Given the description of an element on the screen output the (x, y) to click on. 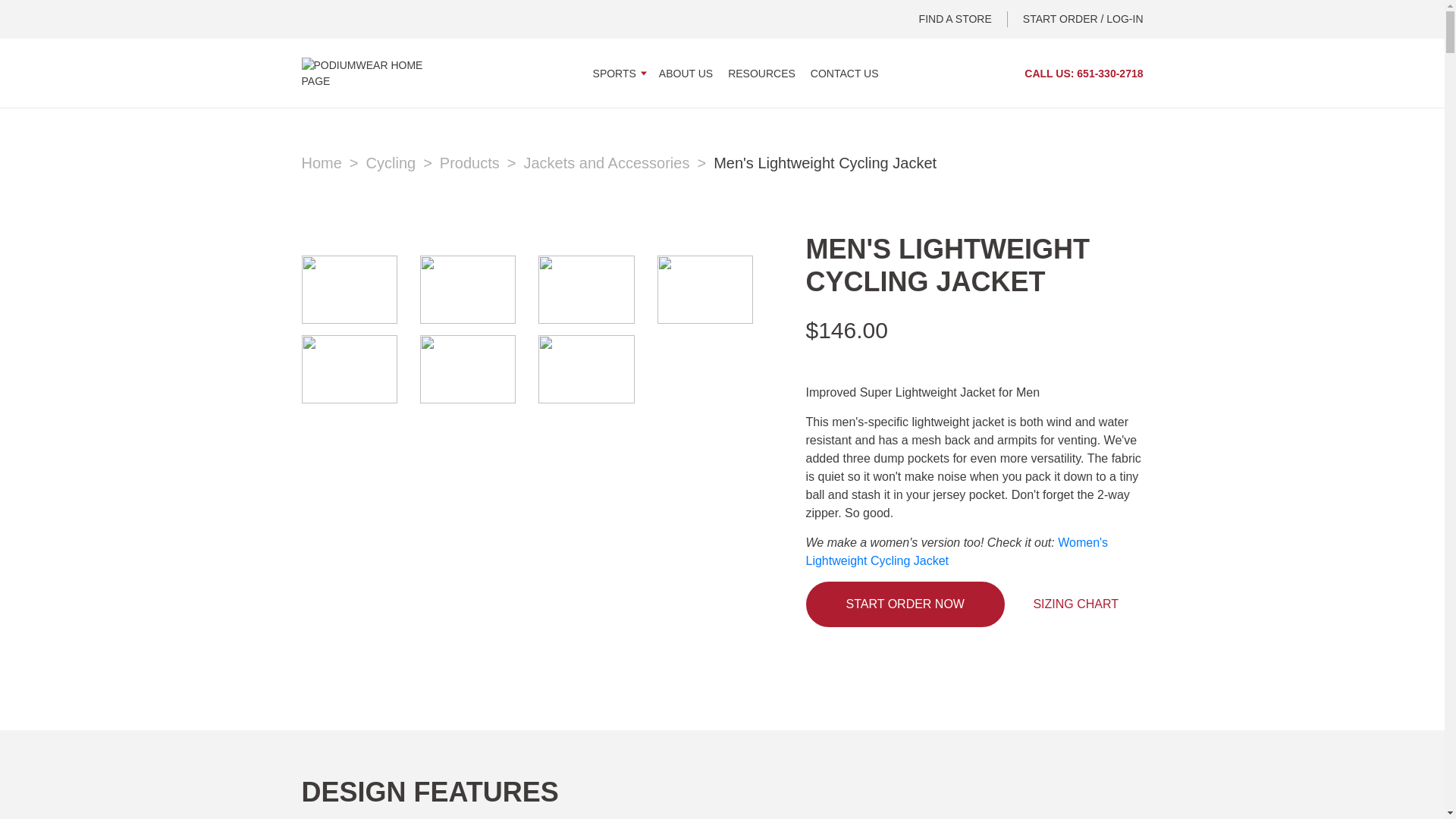
Products (477, 162)
Women's Lightweight Cycling Jacket (956, 551)
ABOUT US (686, 72)
Home (329, 162)
SPORTS (617, 72)
Jackets and Accessories (614, 162)
CALL US: 651-330-2718 (1083, 73)
CONTACT US (844, 72)
Cycling (399, 162)
RESOURCES (761, 72)
